Given the description of an element on the screen output the (x, y) to click on. 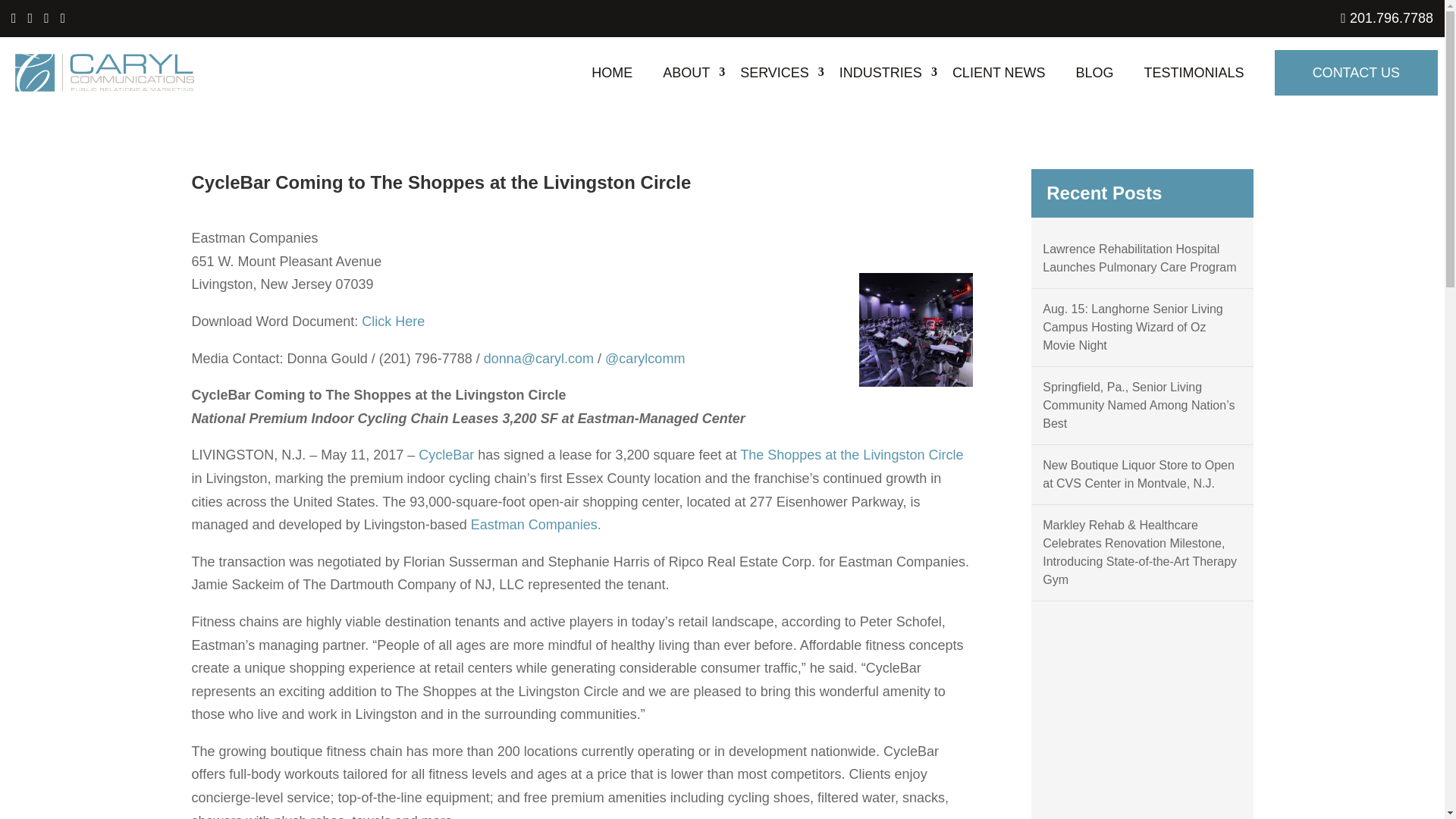
SERVICES (774, 72)
HOME (611, 72)
INDUSTRIES (880, 72)
Caryl-logo (104, 73)
CLIENT NEWS (998, 72)
CONTACT US (1356, 72)
BLOG (1094, 72)
ABOUT (686, 72)
201.796.7788 (1386, 17)
TESTIMONIALS (1194, 72)
